Given the description of an element on the screen output the (x, y) to click on. 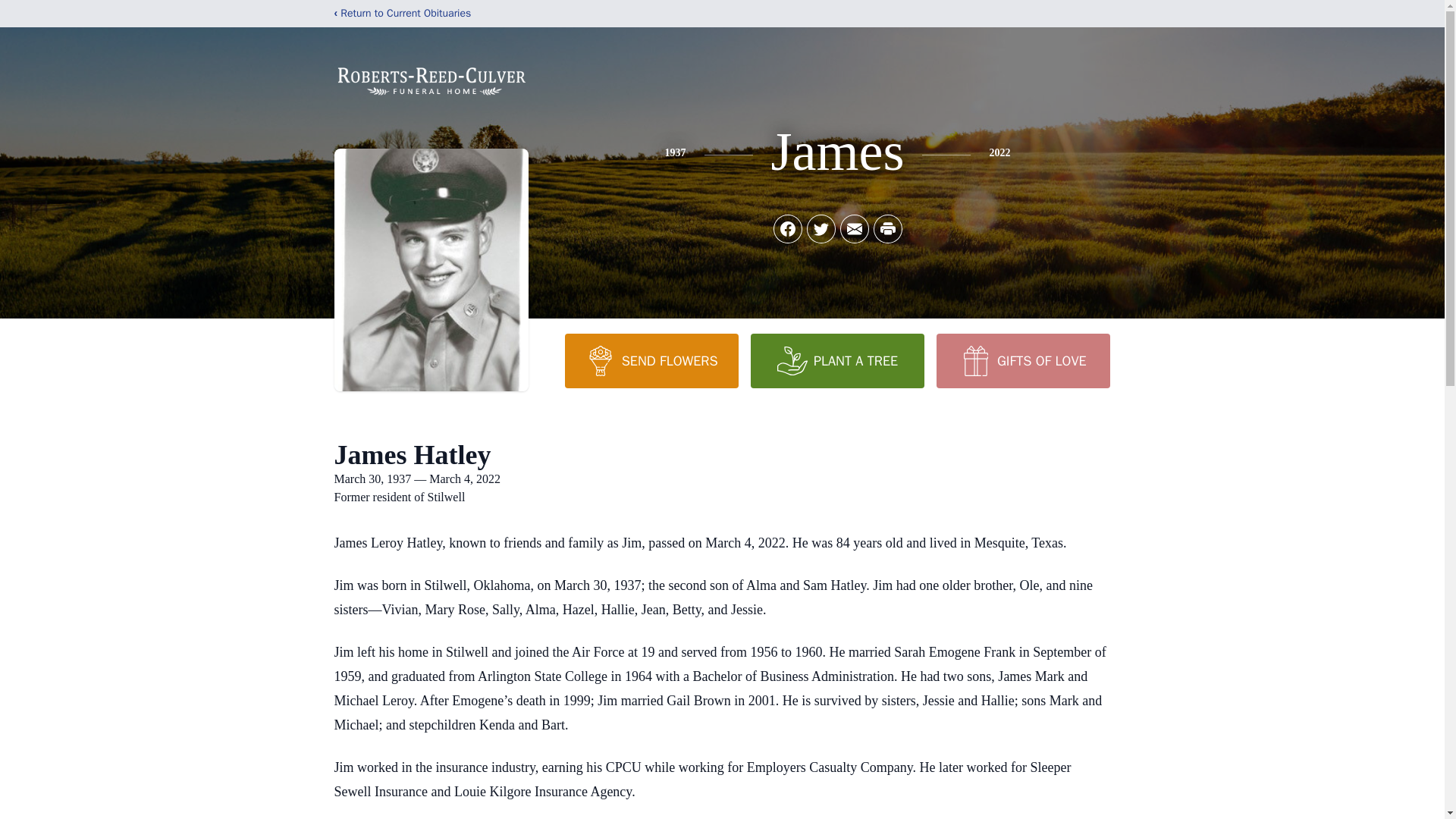
PLANT A TREE (837, 360)
SEND FLOWERS (651, 360)
GIFTS OF LOVE (1022, 360)
